Given the description of an element on the screen output the (x, y) to click on. 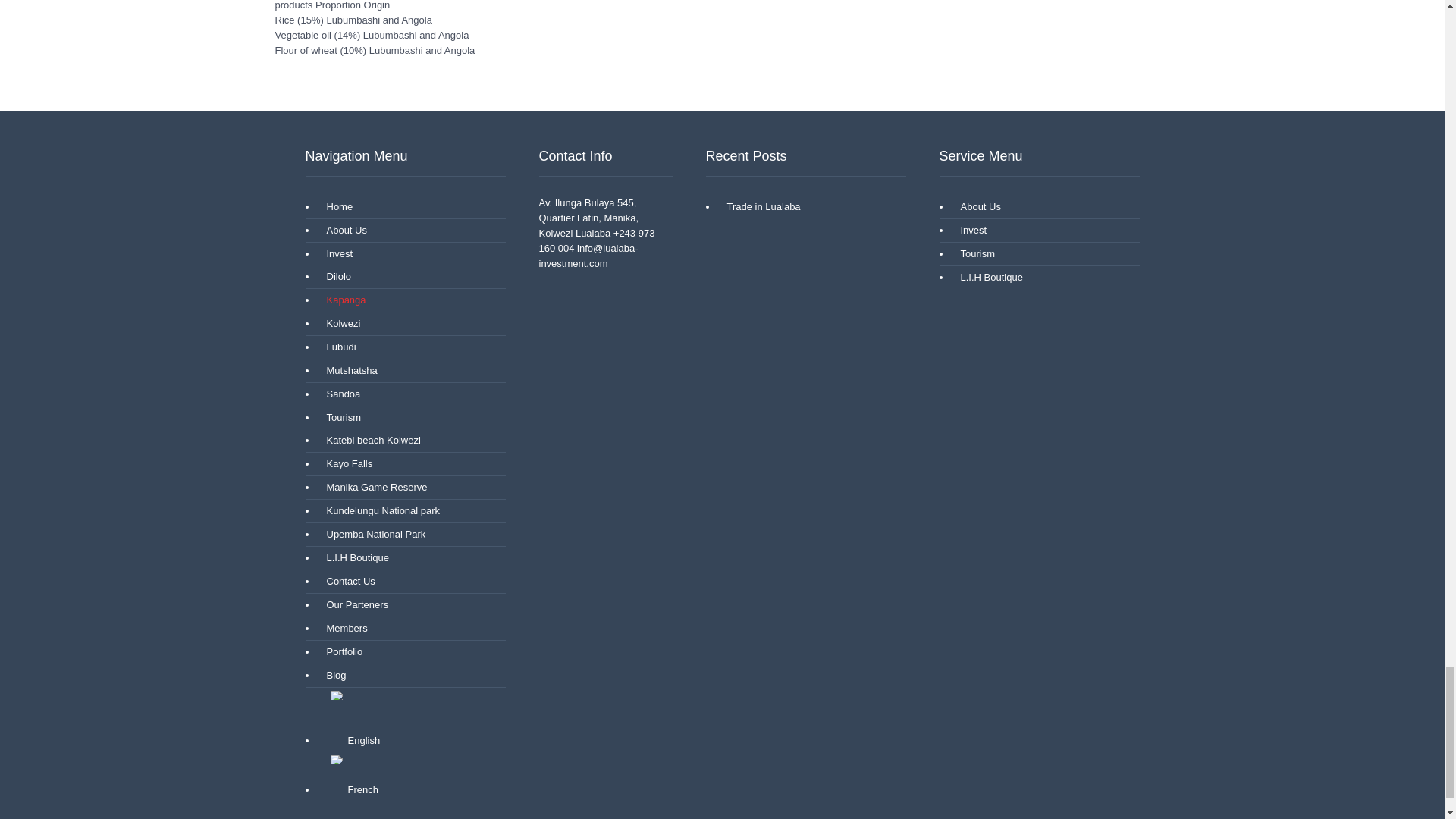
French (336, 759)
Tourism (339, 417)
Dilolo (334, 276)
Kolwezi (338, 323)
Mutshatsha (347, 370)
Katebi beach Kolwezi (369, 440)
Upemba National Park (371, 534)
Home (335, 206)
Kundelungu National park (378, 510)
Sandoa (338, 394)
